Given the description of an element on the screen output the (x, y) to click on. 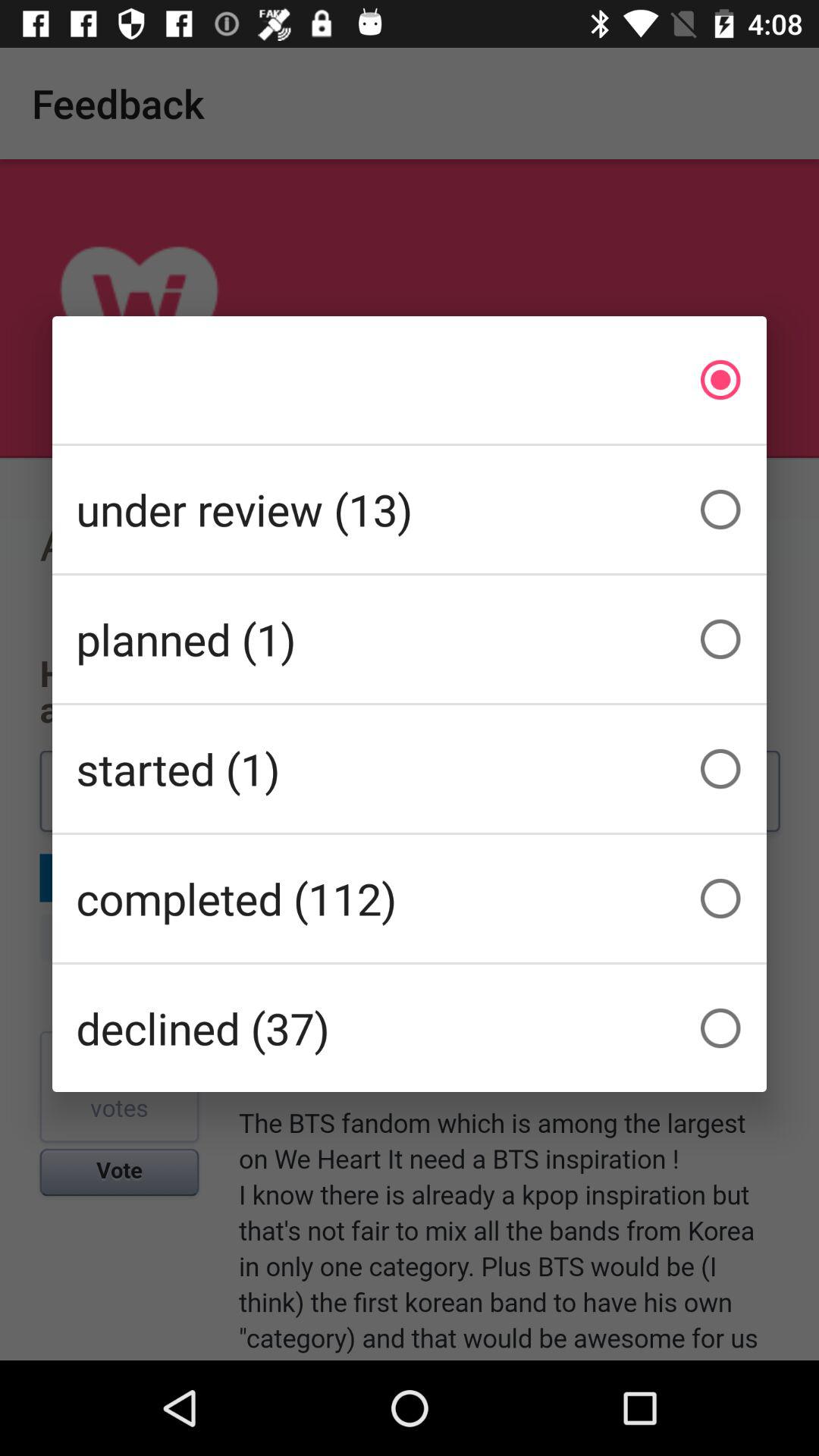
swipe until the started (1) icon (409, 768)
